Given the description of an element on the screen output the (x, y) to click on. 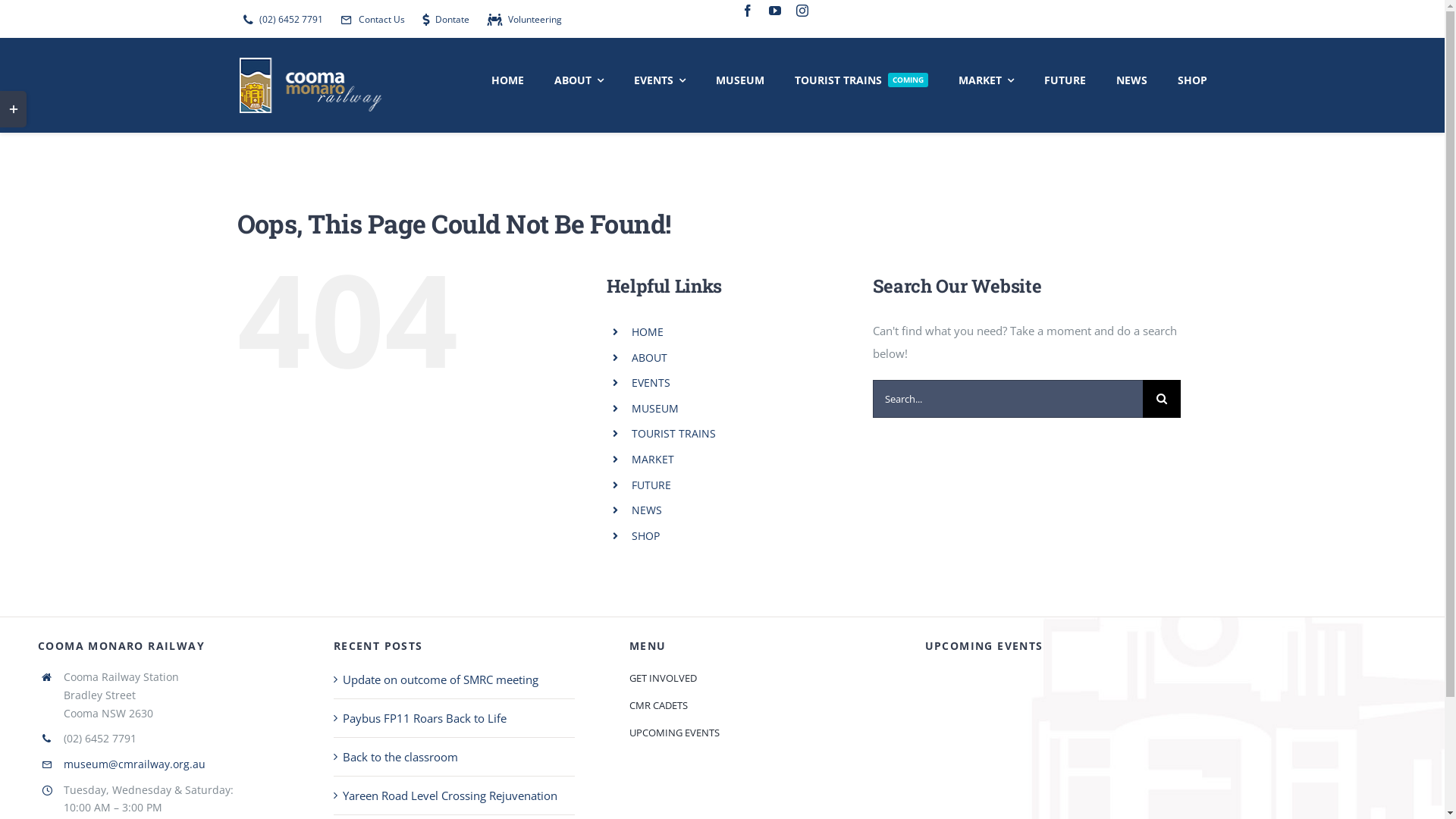
Toggle Sliding Bar Area Element type: text (13, 109)
Update on outcome of SMRC meeting Element type: text (440, 679)
(02) 6452 7791 Element type: text (279, 19)
Volunteering Element type: text (520, 19)
NEWS Element type: text (646, 509)
Dontate Element type: text (441, 19)
ABOUT Element type: text (578, 77)
HOME Element type: text (507, 77)
FUTURE Element type: text (651, 484)
NEWS Element type: text (1131, 77)
museum@cmrailway.org.au Element type: text (134, 763)
HOME Element type: text (647, 331)
TOURIST TRAINS
COMING Element type: text (861, 77)
SHOP Element type: text (1192, 77)
Yareen Road Level Crossing Rejuvenation Element type: text (449, 795)
MARKET Element type: text (652, 458)
ABOUT Element type: text (649, 357)
CMR CADETS Element type: text (749, 705)
UPCOMING EVENTS Element type: text (749, 732)
FUTURE Element type: text (1064, 77)
MUSEUM Element type: text (654, 408)
SHOP Element type: text (645, 535)
Contact Us Element type: text (368, 19)
EVENTS Element type: text (650, 382)
MARKET Element type: text (985, 77)
MUSEUM Element type: text (739, 77)
Paybus FP11 Roars Back to Life Element type: text (424, 717)
EVENTS Element type: text (659, 77)
Back to the classroom Element type: text (400, 756)
TOURIST TRAINS Element type: text (673, 433)
GET INVOLVED Element type: text (749, 677)
